Given the description of an element on the screen output the (x, y) to click on. 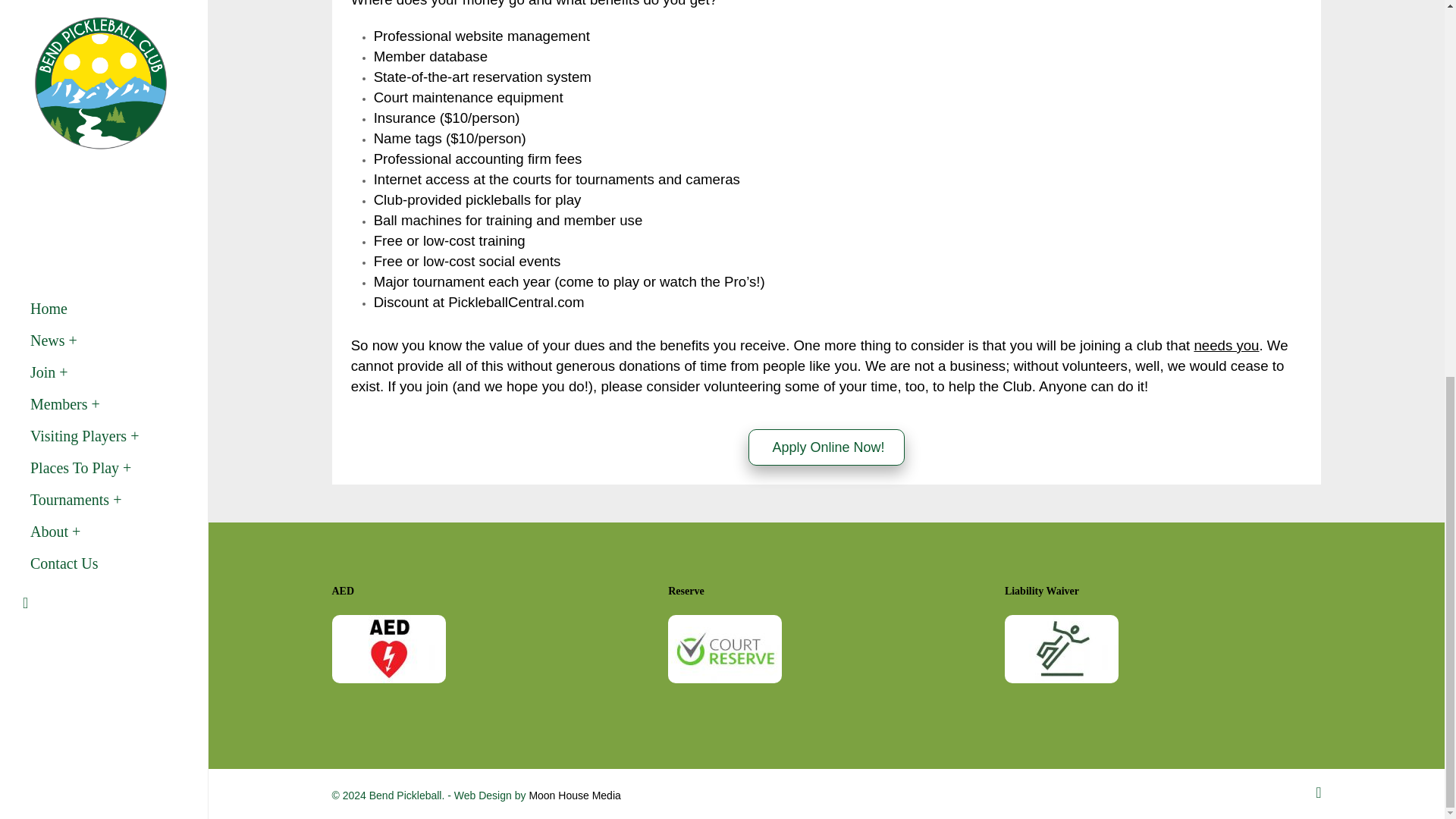
Reserve (724, 649)
AED (388, 649)
Liability Waiver (1061, 649)
